Given the description of an element on the screen output the (x, y) to click on. 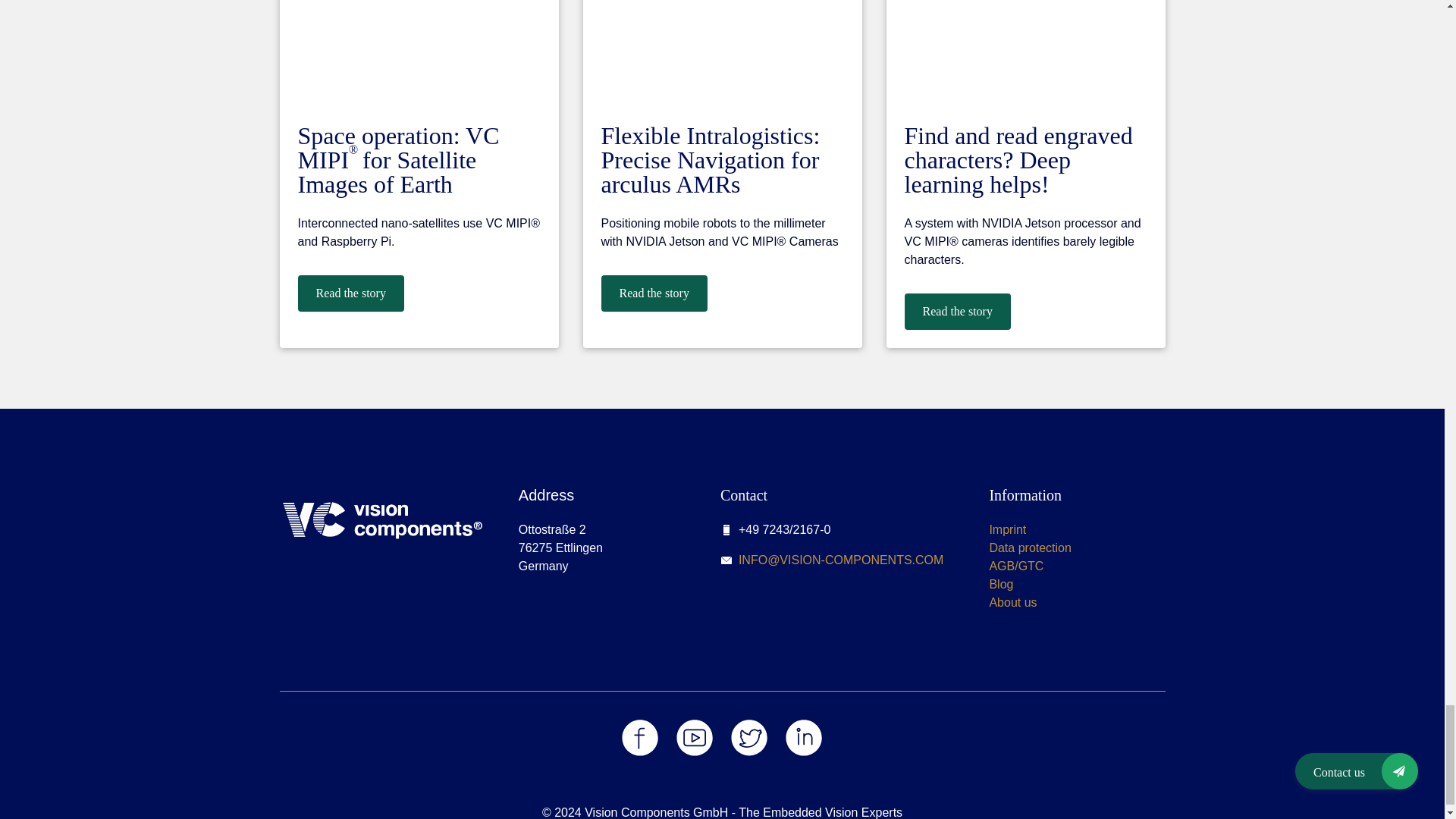
Imprint (1007, 529)
Read the story (350, 293)
Read the story (957, 311)
Data protection (1029, 547)
Read the story (652, 293)
